Given the description of an element on the screen output the (x, y) to click on. 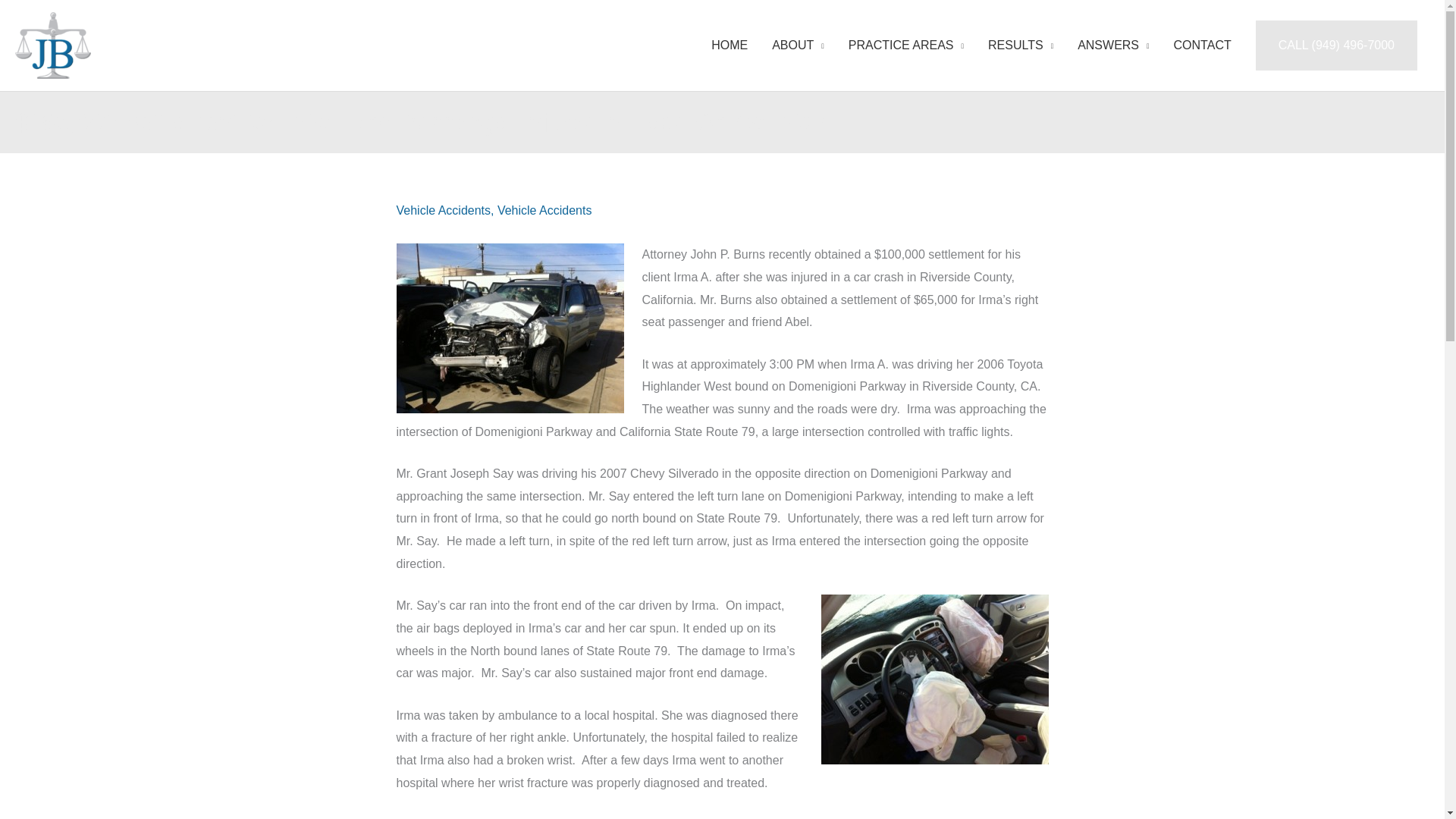
ANSWERS (1112, 45)
PRACTICE AREAS (905, 45)
RESULTS (1020, 45)
CONTACT (1202, 45)
Vehicle Accidents (544, 210)
Vehicle Accidents (443, 210)
